Given the description of an element on the screen output the (x, y) to click on. 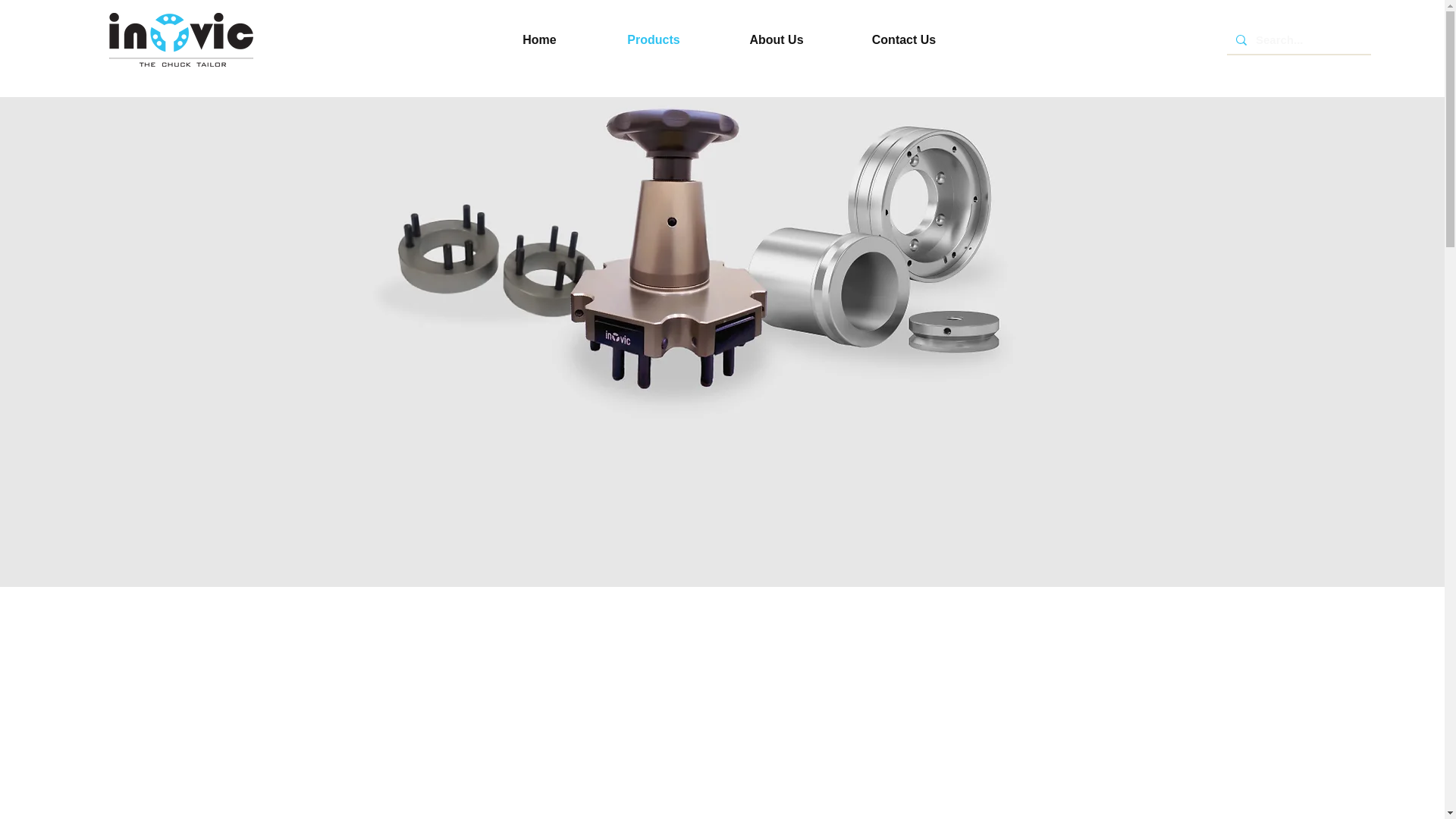
Products (653, 39)
Home (539, 39)
About Us (776, 39)
Contact Us (903, 39)
